Given the description of an element on the screen output the (x, y) to click on. 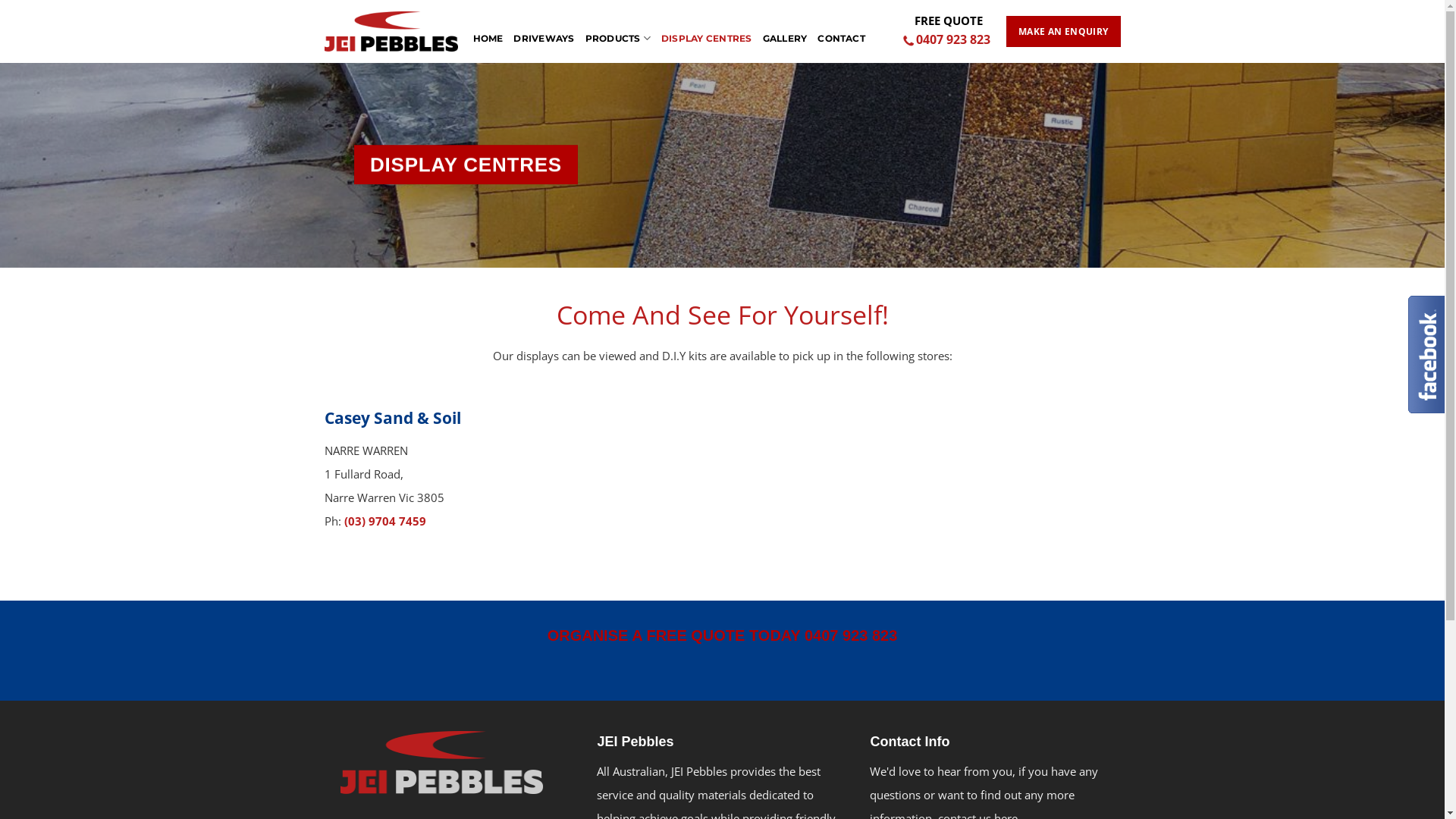
jeipebbles -  Element type: hover (391, 31)
DRIVEWAYS Element type: text (543, 30)
DISPLAY CENTRES Element type: text (465, 164)
DISPLAY CENTRES Element type: text (706, 30)
PRODUCTS Element type: text (617, 30)
0407 923 823 Element type: text (850, 635)
0407 923 823 Element type: text (947, 40)
Skip to content Element type: text (0, 0)
GALLERY Element type: text (784, 30)
MAKE AN ENQUIRY Element type: text (1063, 31)
HOME Element type: text (488, 30)
CONTACT Element type: text (841, 30)
(03) 9704 7459 Element type: text (385, 520)
